Given the description of an element on the screen output the (x, y) to click on. 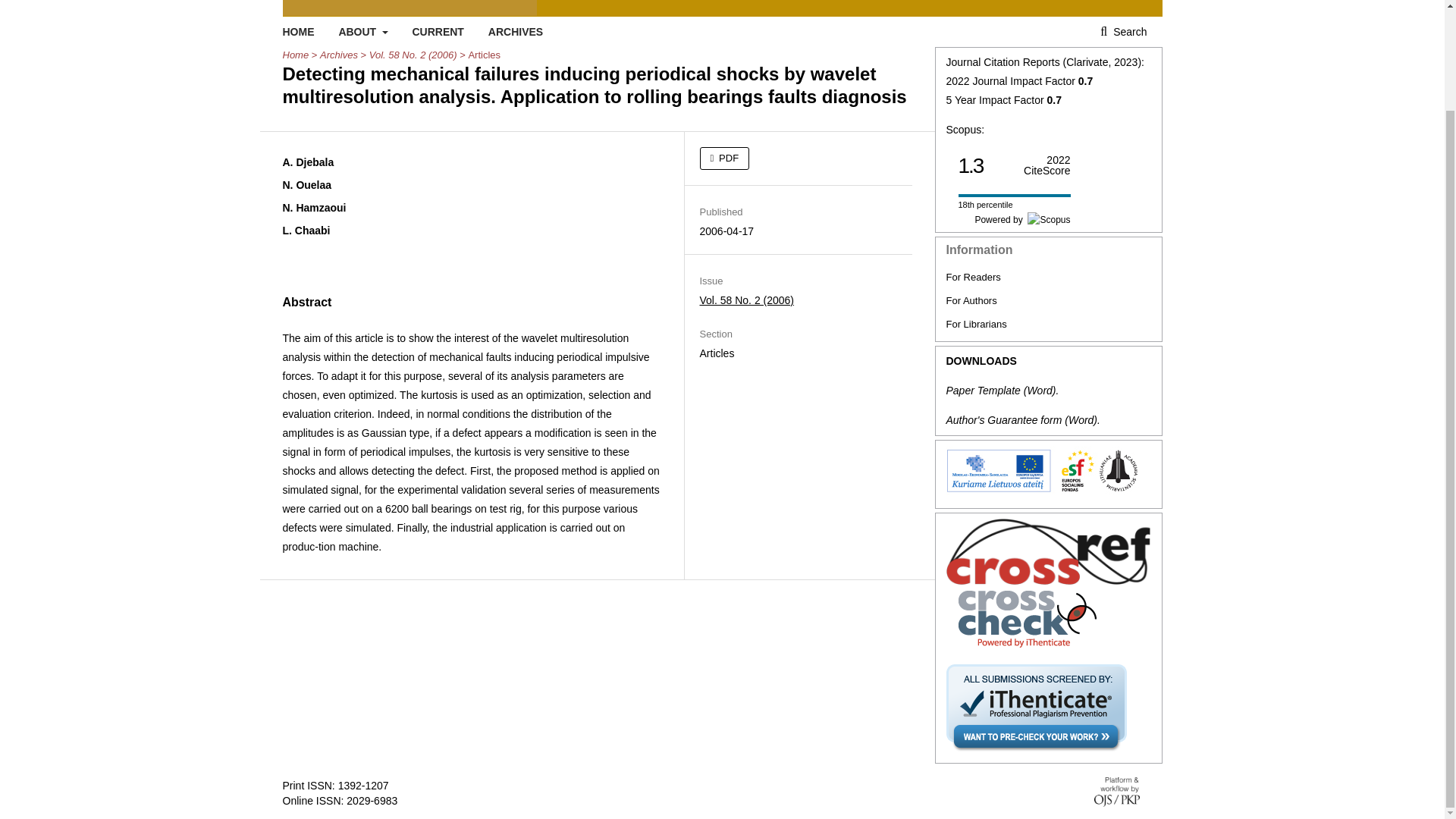
For Readers (973, 276)
Search (1122, 31)
ABOUT (362, 31)
HOME (298, 31)
Archives (339, 55)
Author's Guarantee form (1004, 419)
PDF (723, 158)
For Authors (971, 300)
Home (295, 55)
For Librarians (976, 324)
Paper Template (983, 390)
ARCHIVES (515, 31)
CURRENT (437, 31)
